Given the description of an element on the screen output the (x, y) to click on. 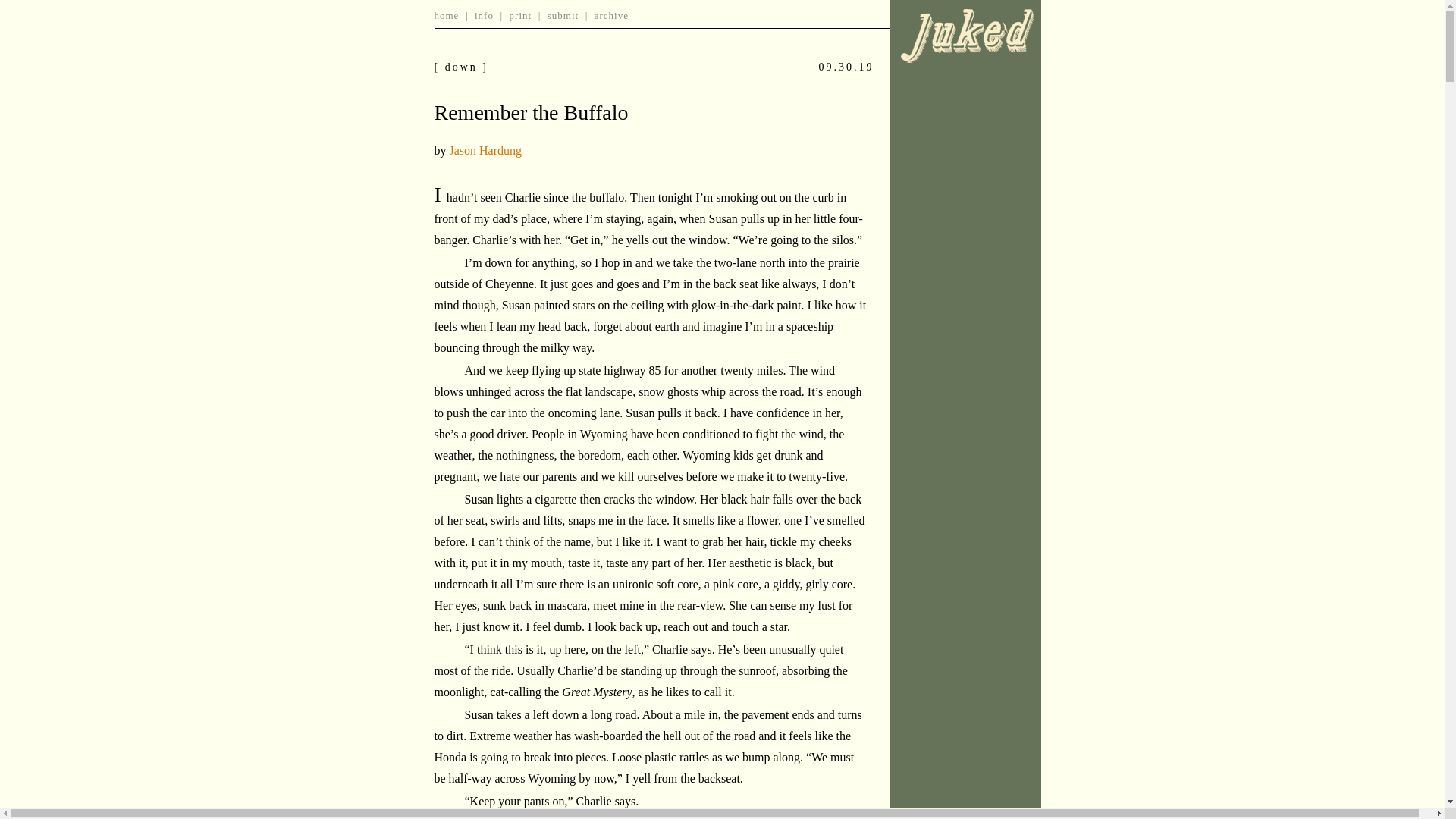
home (445, 15)
Jason Hardung (484, 150)
print (520, 15)
submit (562, 15)
info (483, 15)
archive (611, 15)
